Given the description of an element on the screen output the (x, y) to click on. 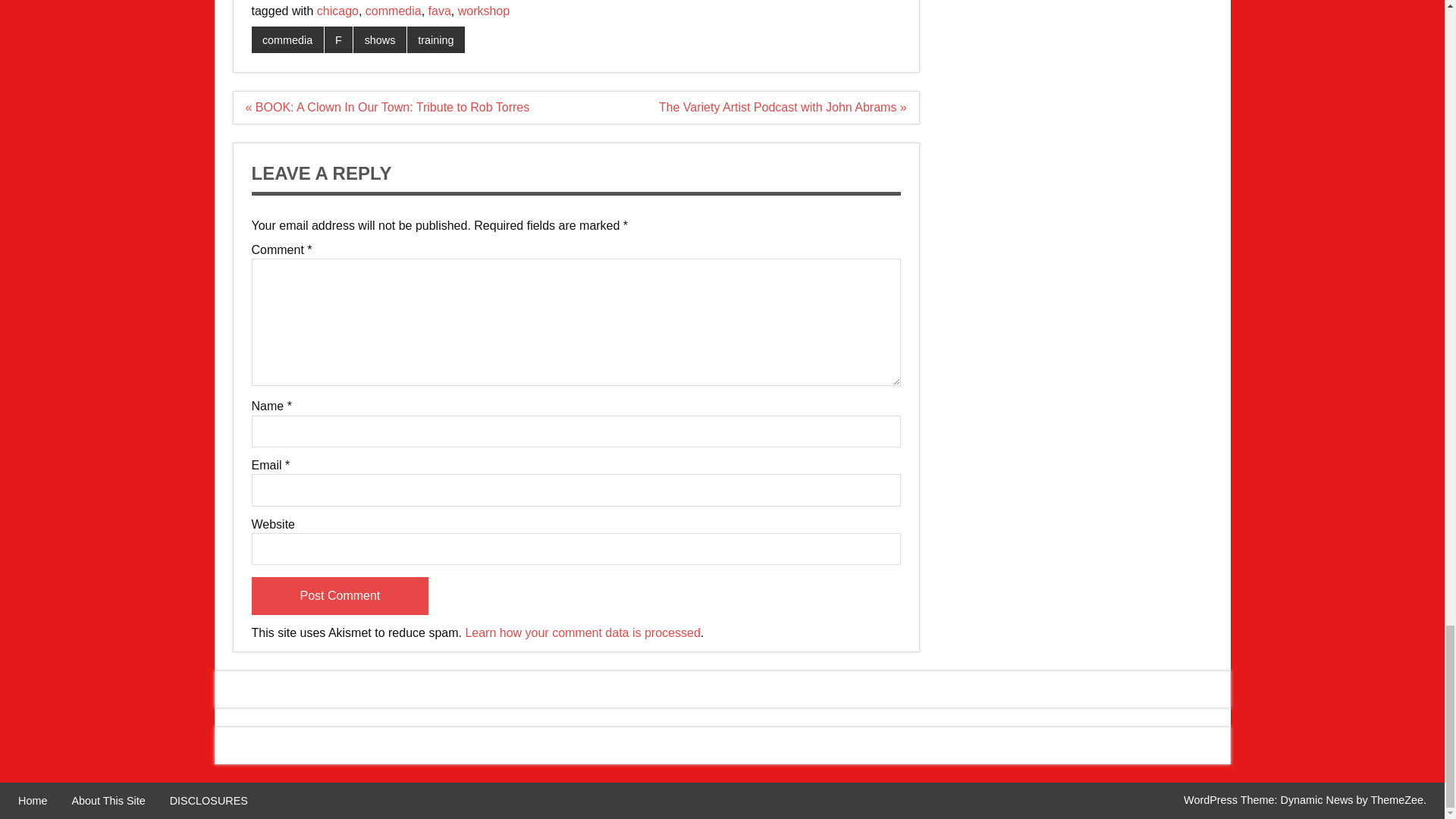
fava (439, 10)
F (338, 40)
shows (379, 40)
workshop (483, 10)
Post Comment (340, 596)
commedia (393, 10)
Post Comment (340, 596)
Learn how your comment data is processed (582, 632)
commedia (287, 40)
chicago (337, 10)
training (435, 40)
